Given the description of an element on the screen output the (x, y) to click on. 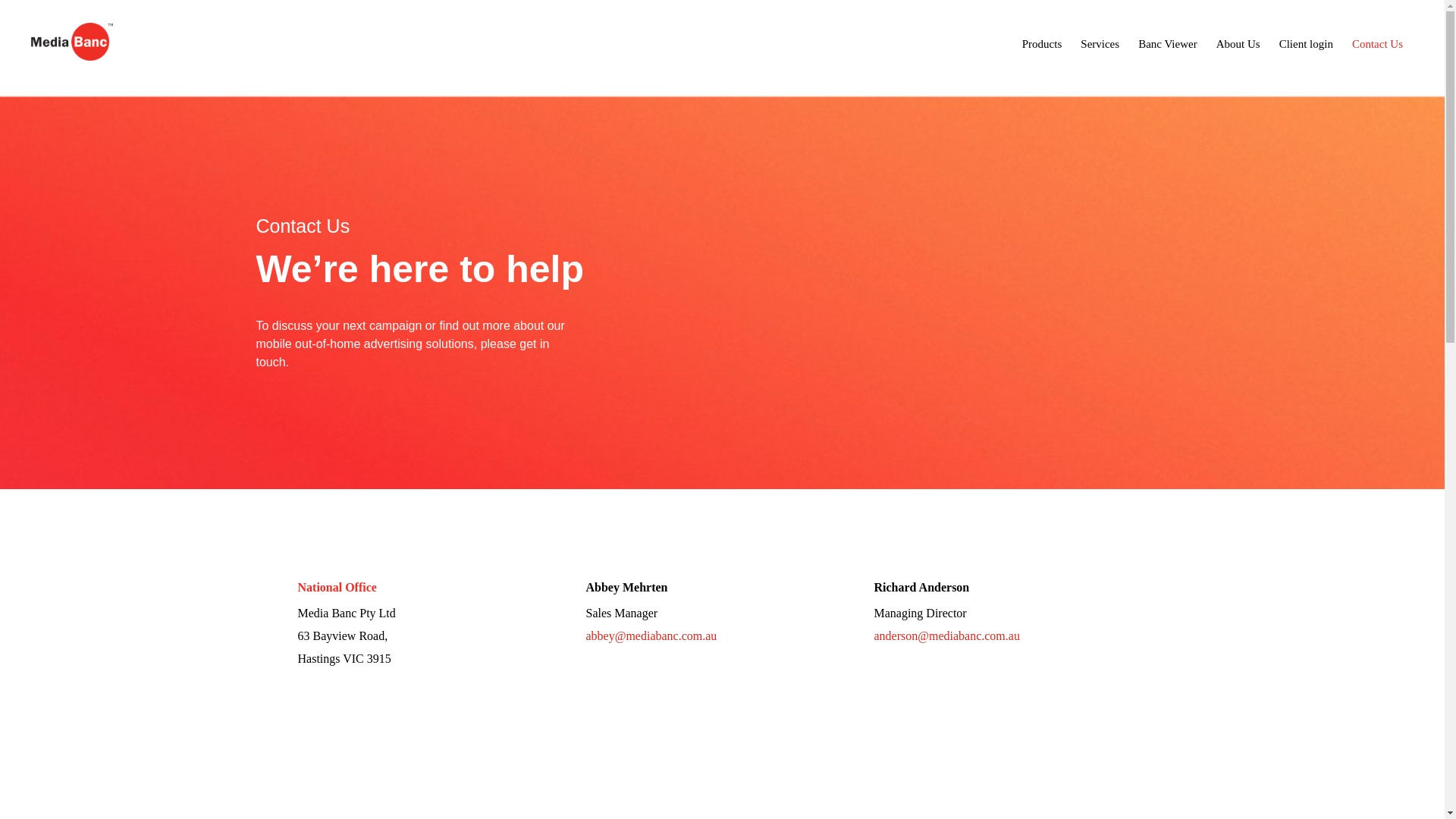
Client Login Element type: text (800, 760)
Products Element type: text (583, 760)
Client login Element type: text (1305, 43)
Services Element type: text (1099, 43)
Linkedin Element type: text (860, 760)
Skip to primary navigation Element type: text (30, 0)
About Element type: text (747, 760)
Services Element type: text (633, 760)
abbey@mediabanc.com.au Element type: text (650, 635)
Banc Viewer Element type: text (1167, 43)
About Us Element type: text (1237, 43)
Contact Us Element type: text (1377, 43)
Banc Viewer Element type: text (693, 760)
Products Element type: text (1042, 43)
anderson@mediabanc.com.au Element type: text (946, 635)
